Given the description of an element on the screen output the (x, y) to click on. 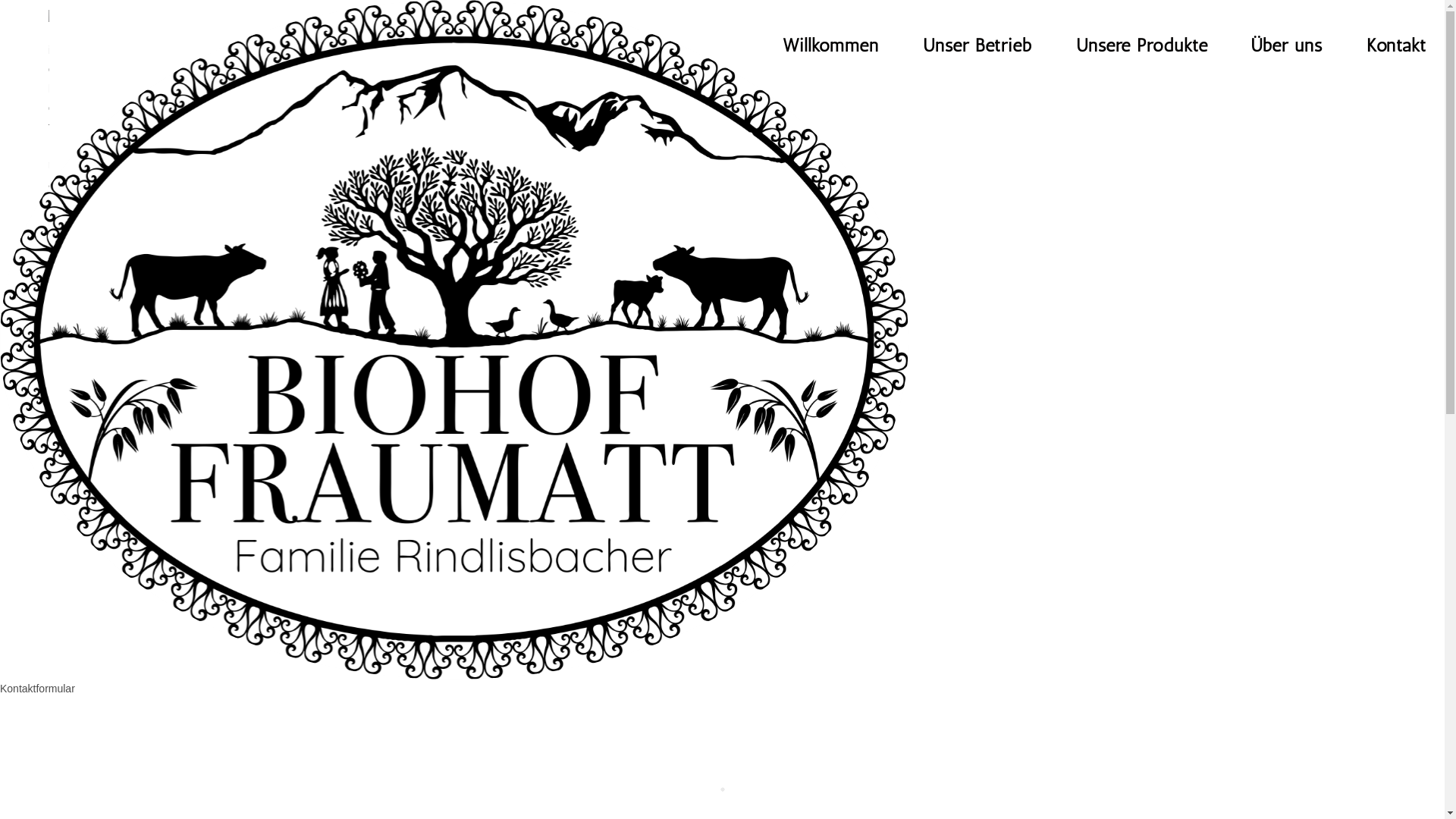
Unser Betrieb Element type: text (977, 45)
Kontakt Element type: text (1396, 45)
Unsere Produkte Element type: text (1142, 45)
Willkommen Element type: text (830, 45)
